Given the description of an element on the screen output the (x, y) to click on. 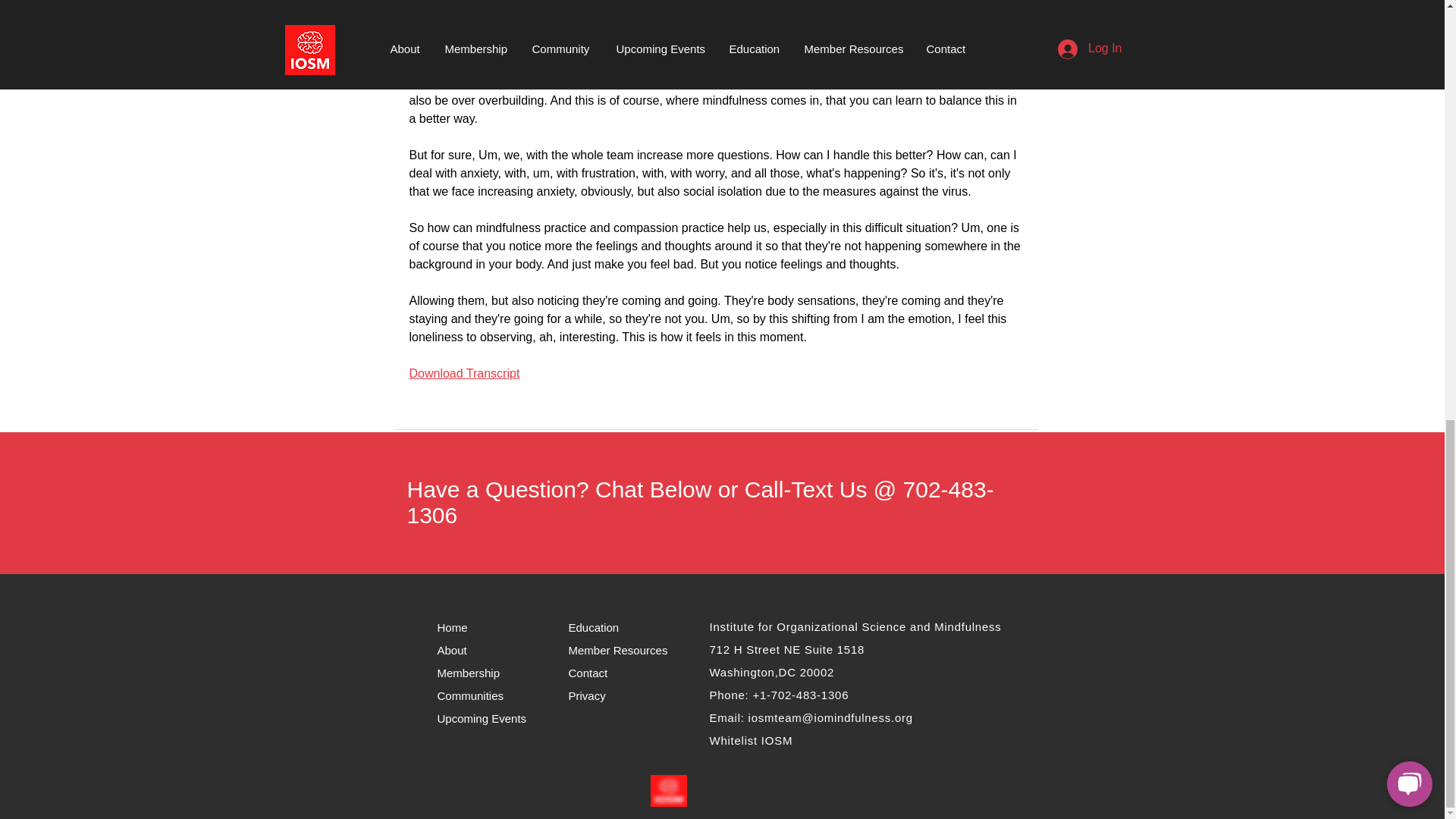
Download Transcript (464, 373)
Home (458, 626)
Privacy (593, 694)
Contact (599, 671)
Membership (473, 671)
Upcoming Events (490, 717)
Member Resources (620, 649)
Communities (481, 694)
Education (597, 626)
About (460, 649)
